Given the description of an element on the screen output the (x, y) to click on. 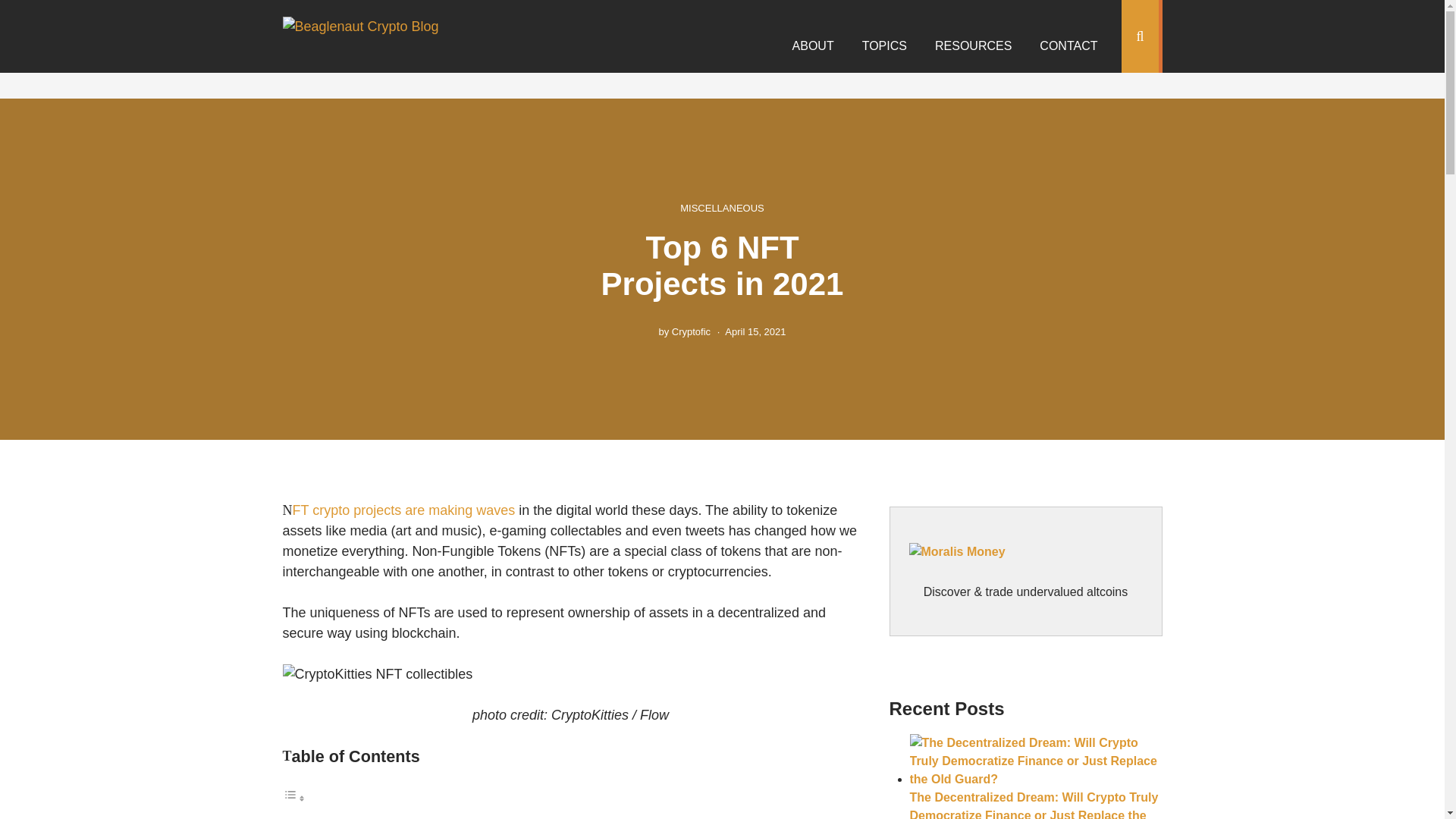
CONTACT (1068, 45)
MISCELLANEOUS (721, 206)
TOPICS (884, 45)
Go to Moralis Money website (1024, 562)
NFT crypto projects are making waves (403, 509)
Cryptofic (690, 331)
ABOUT (813, 45)
RESOURCES (972, 45)
